Given the description of an element on the screen output the (x, y) to click on. 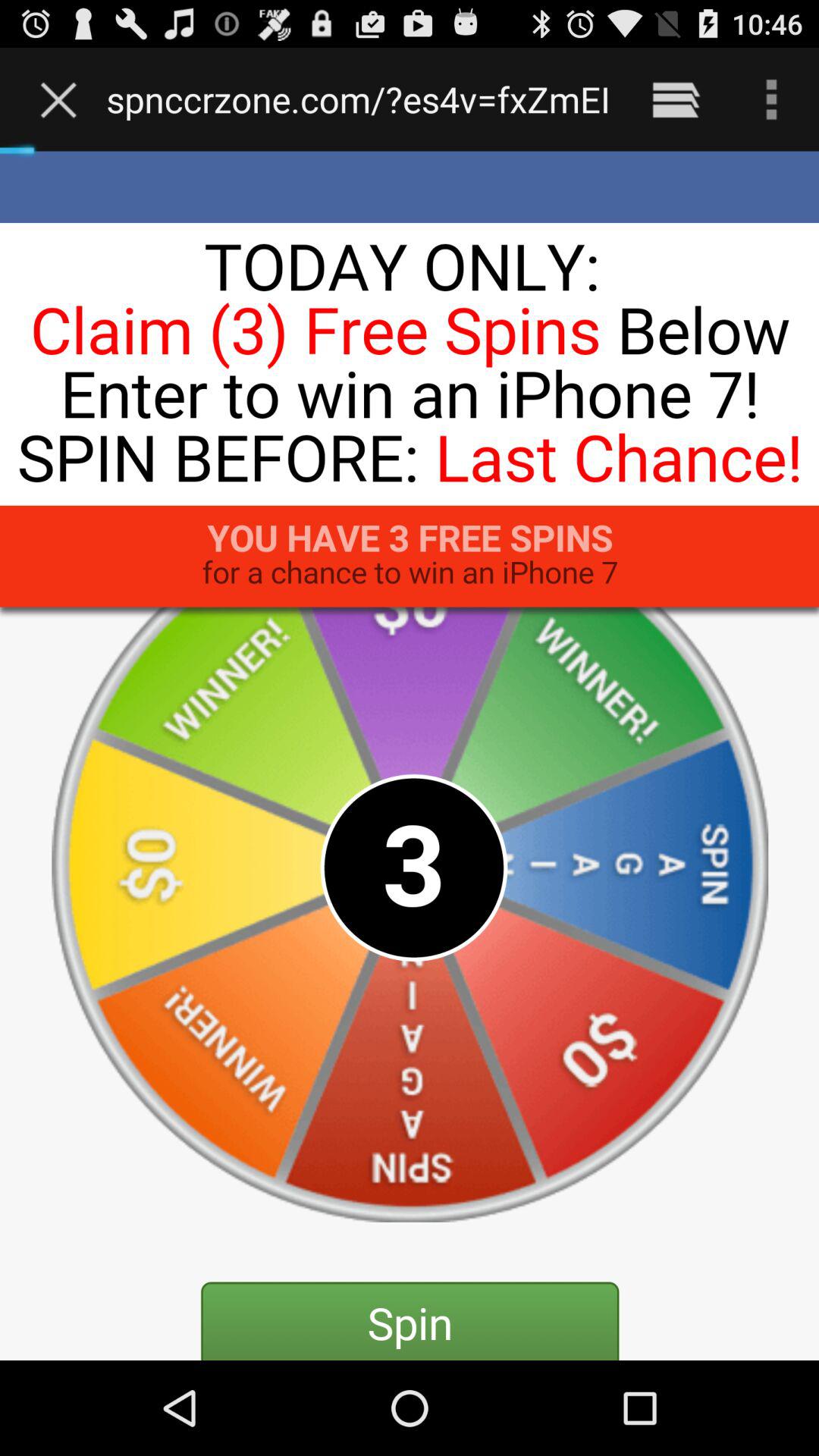
press the icon below the www electronicproductzone com (409, 755)
